Given the description of an element on the screen output the (x, y) to click on. 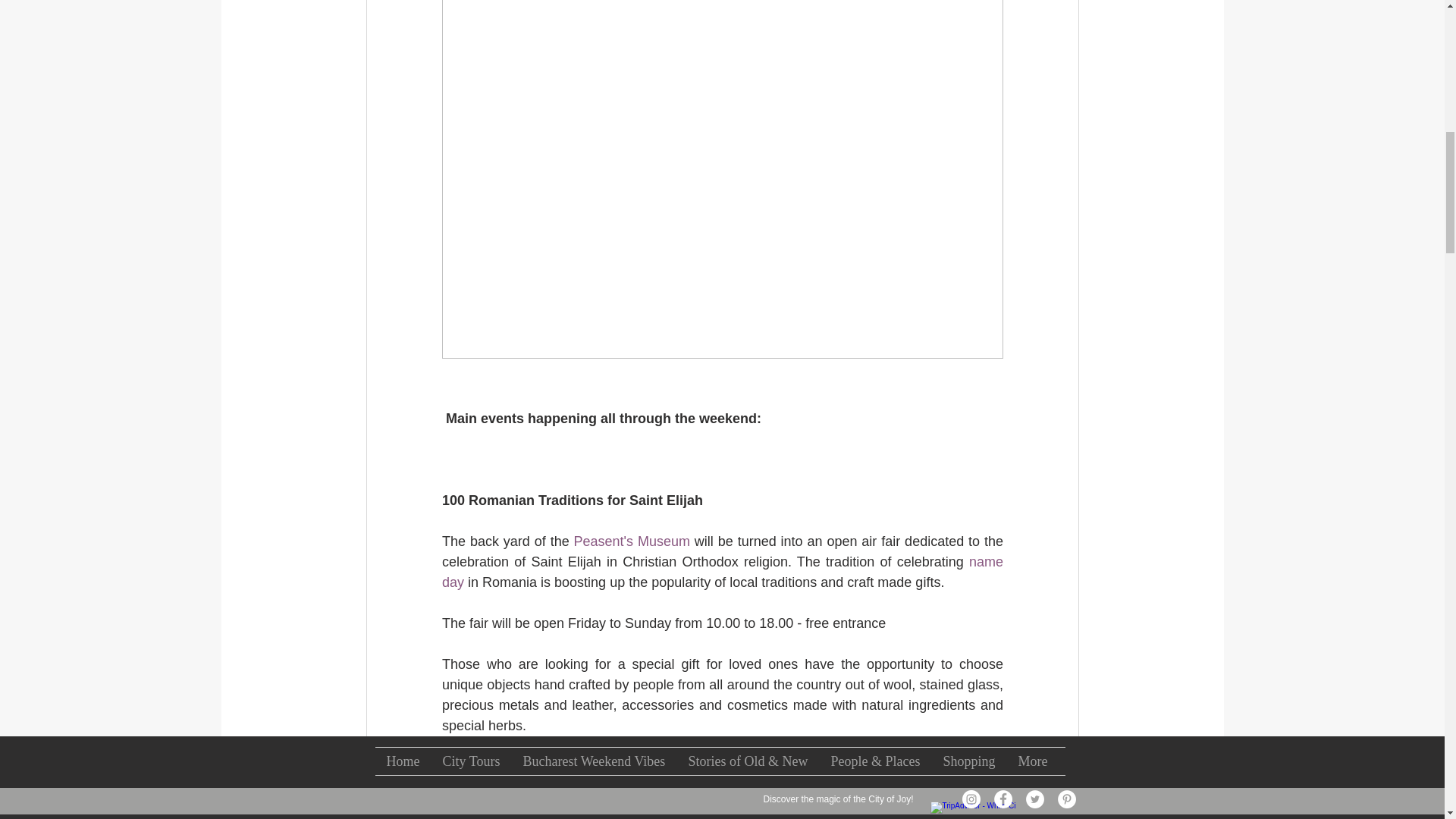
name day (723, 571)
Peasent's Museum (630, 540)
